Given the description of an element on the screen output the (x, y) to click on. 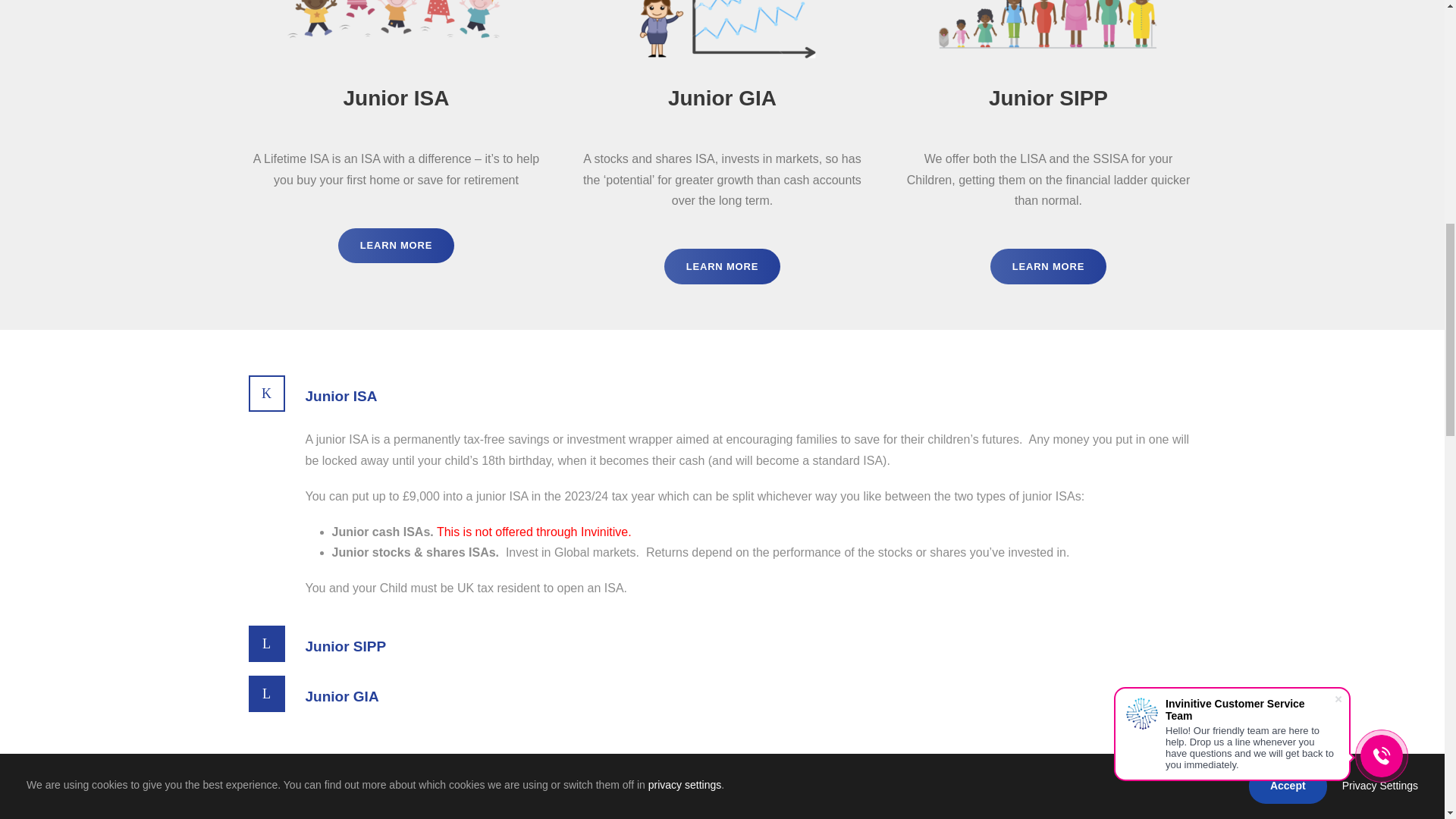
kids playing 2 (395, 31)
LEARN MORE (395, 245)
LEARN MORE (1048, 266)
generations (1047, 31)
LEARN MORE (721, 266)
kids playing 3 (721, 31)
